Given the description of an element on the screen output the (x, y) to click on. 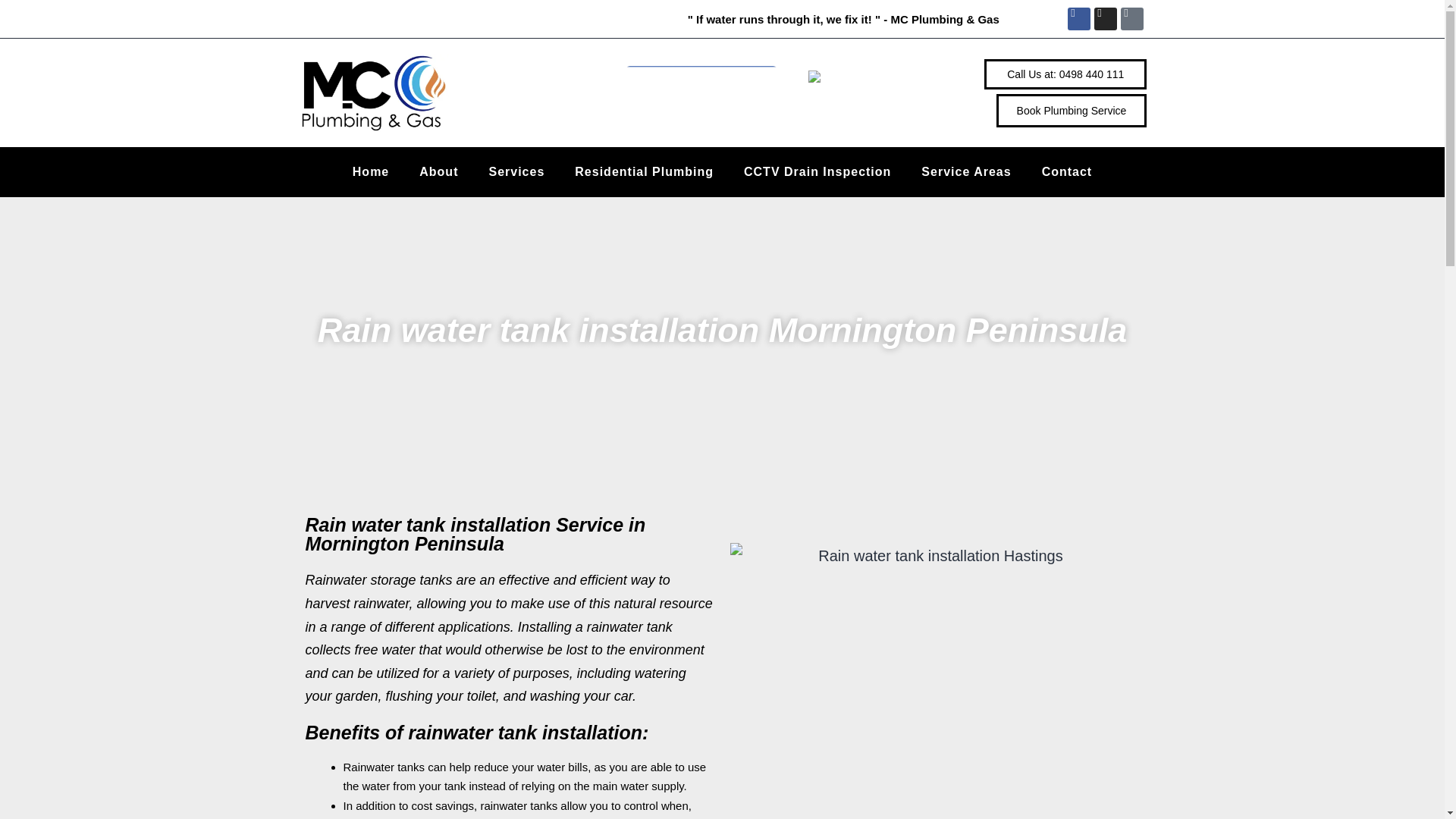
Services (516, 171)
Residential Plumbing (644, 171)
CCTV Drain Inspection (817, 171)
Service Areas (965, 171)
About (438, 171)
Call Us at: 0498 440 111 (1065, 73)
Home (370, 171)
Book Plumbing Service (1071, 110)
